Given the description of an element on the screen output the (x, y) to click on. 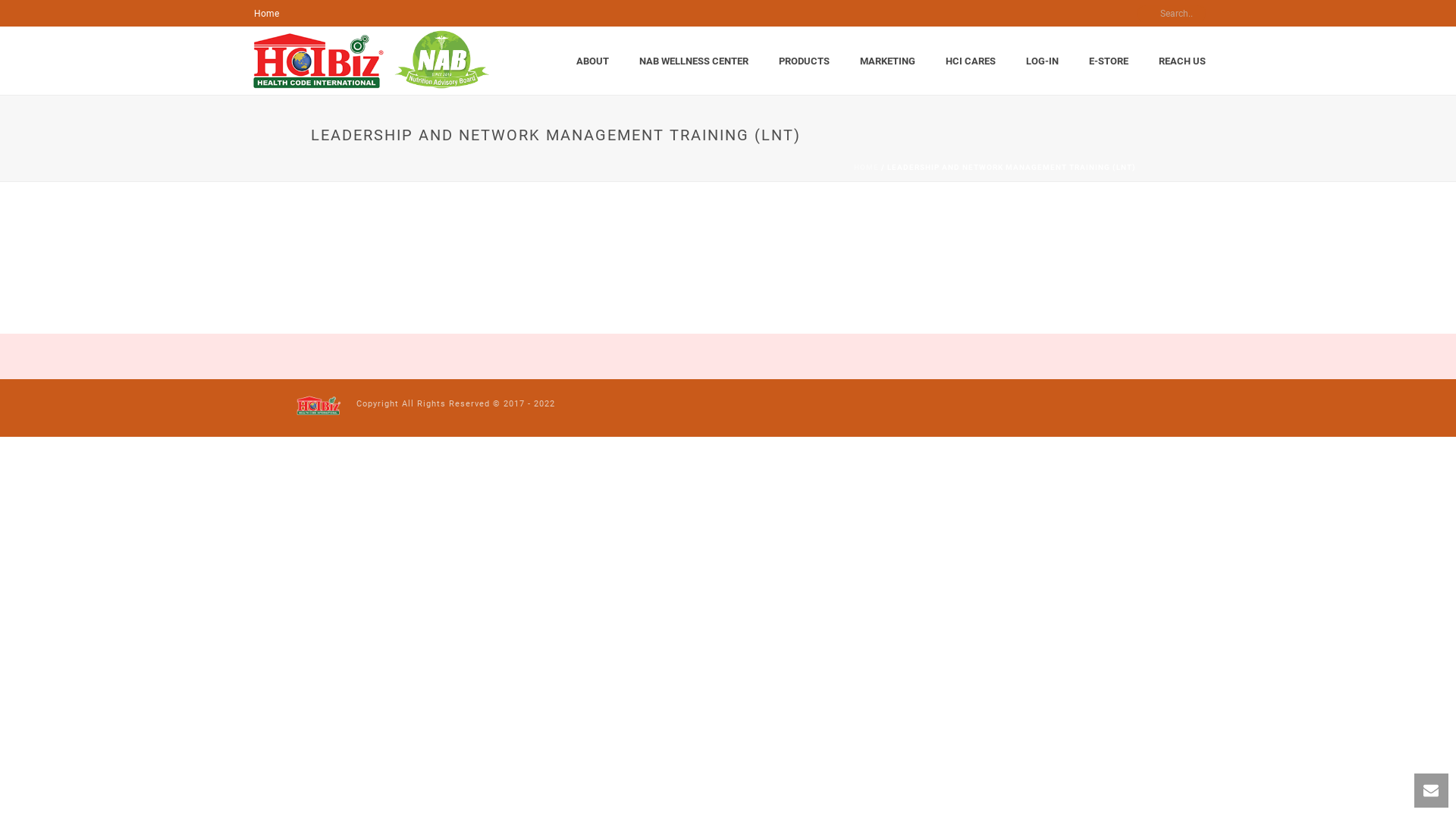
HOME Element type: text (865, 167)
PRODUCTS Element type: text (803, 61)
MARKETING Element type: text (887, 61)
ABOUT Element type: text (592, 61)
Home Element type: text (266, 13)
HCI CARES Element type: text (970, 61)
NAB WELLNESS CENTER Element type: text (693, 61)
REACH US Element type: text (1181, 61)
LOG-IN Element type: text (1041, 61)
Health Code International Element type: hover (318, 407)
E-STORE Element type: text (1108, 61)
